Given the description of an element on the screen output the (x, y) to click on. 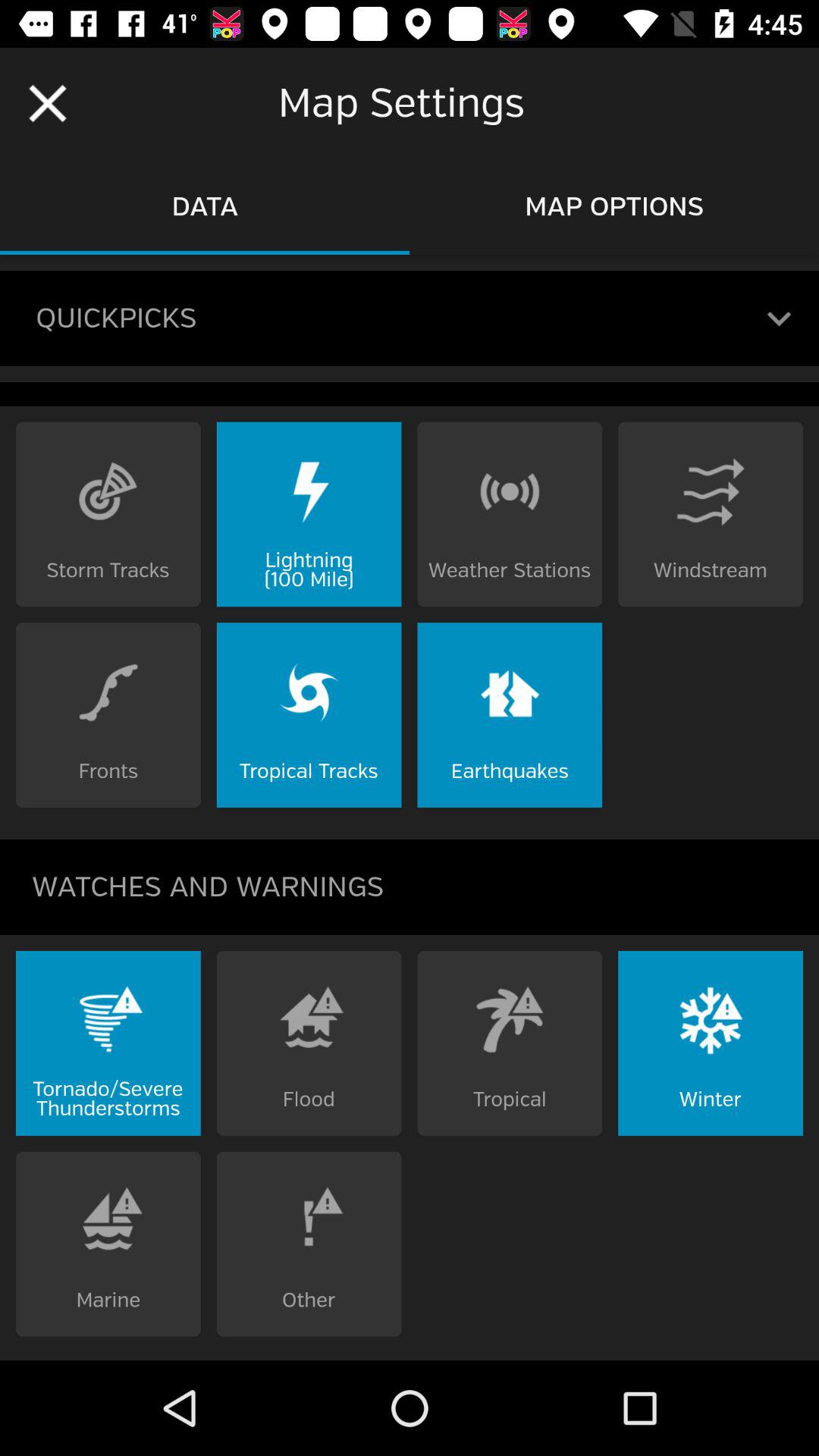
click on close icon at top left (47, 103)
